Given the description of an element on the screen output the (x, y) to click on. 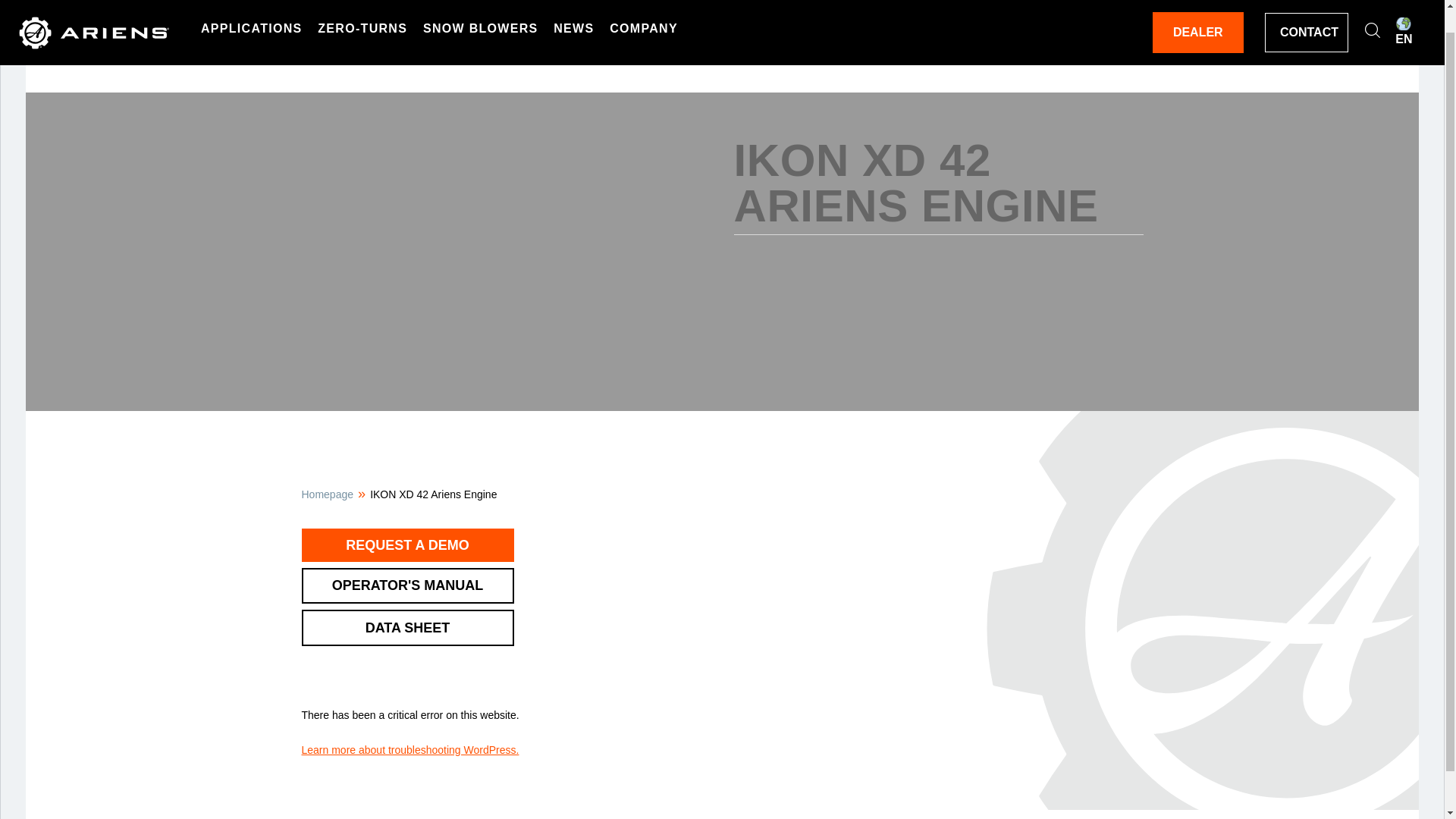
Zero-Turns (362, 6)
APPLICATIONS (251, 6)
Applications (251, 6)
ZERO-TURNS (362, 6)
